Given the description of an element on the screen output the (x, y) to click on. 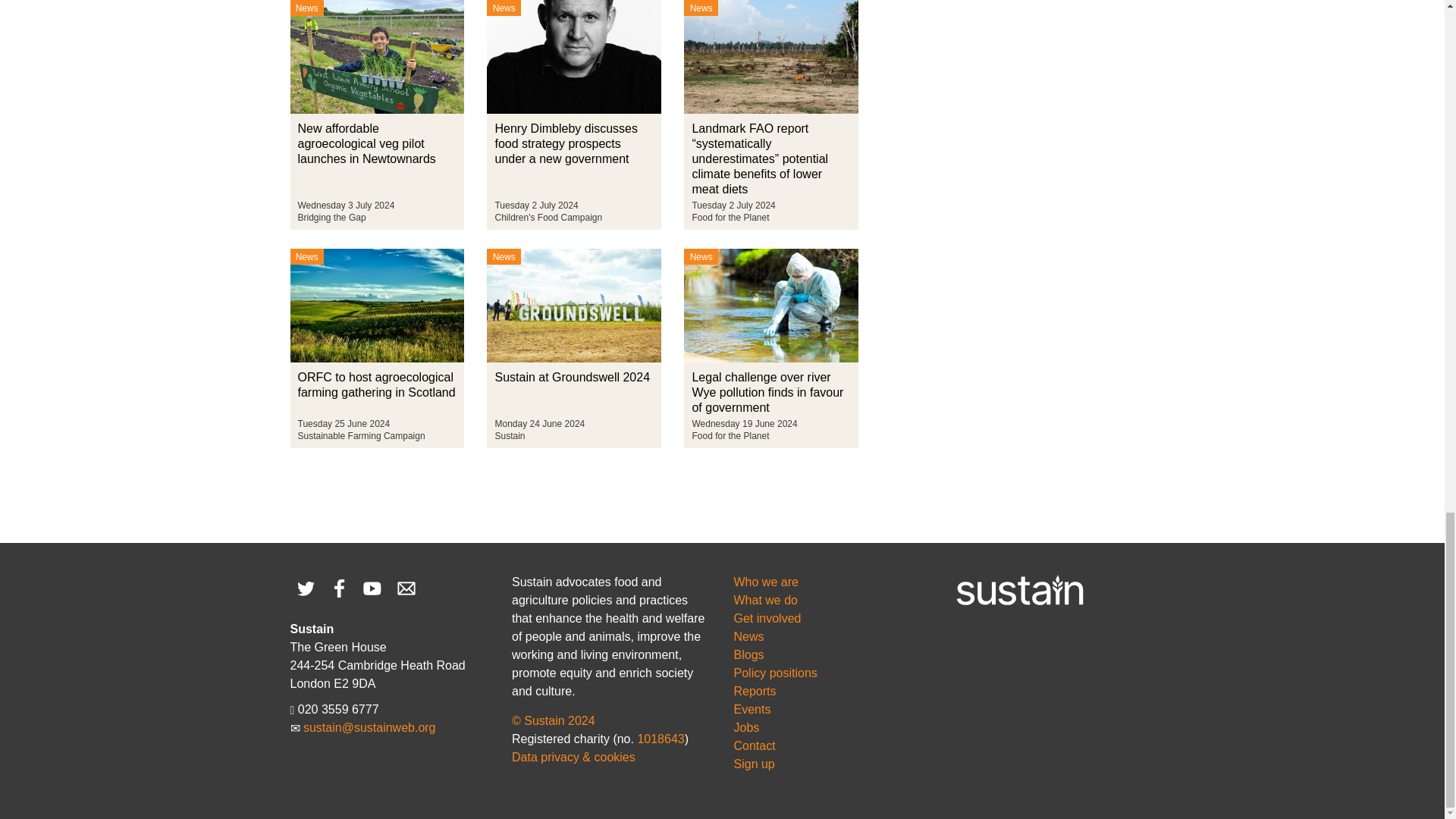
Twitter (304, 588)
Henry Dimbleby credit Sam Robinson. Credit: Sam Robinson (573, 56)
Groundswell Festival Sign. Credit: Groundswell Festival (573, 305)
Rural landscape. Credit: Pexels (376, 305)
Youtube (371, 588)
Facebook (338, 588)
